Given the description of an element on the screen output the (x, y) to click on. 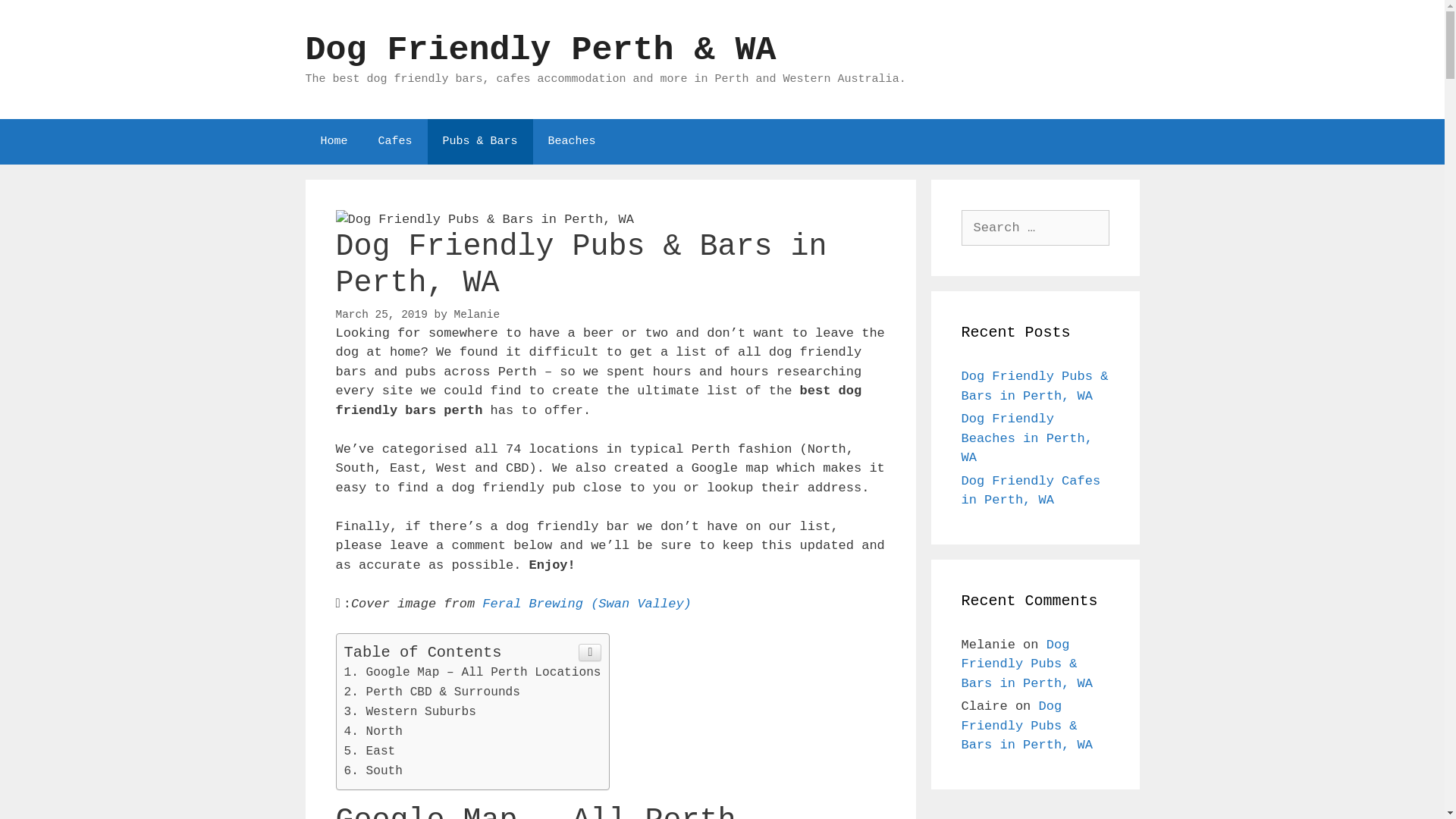
Dog Friendly Pubs & Bars in Perth, WA Element type: text (1026, 725)
Pubs & Bars Element type: text (480, 140)
Perth CBD & Surrounds Element type: text (432, 692)
Skip to content Element type: text (0, 0)
Dog Friendly Cafes in Perth, WA Element type: text (1031, 490)
Dog Friendly Pubs & Bars in Perth, WA Element type: text (1026, 663)
Cafes Element type: text (395, 140)
Dog Friendly Perth & WA Element type: text (539, 50)
March 25, 2019 Element type: text (380, 314)
Melanie Element type: text (476, 314)
Search Element type: text (39, 18)
South Element type: text (373, 771)
North Element type: text (373, 731)
Dog Friendly Beaches in Perth, WA Element type: text (1026, 437)
Home Element type: text (333, 140)
Feral Brewing (Swan Valley) Element type: text (586, 603)
Dog Friendly Pubs & Bars in Perth, WA Element type: text (1034, 386)
Beaches Element type: text (572, 140)
Search for: Element type: hover (1035, 227)
East Element type: text (369, 751)
Western Suburbs Element type: text (410, 711)
